Given the description of an element on the screen output the (x, y) to click on. 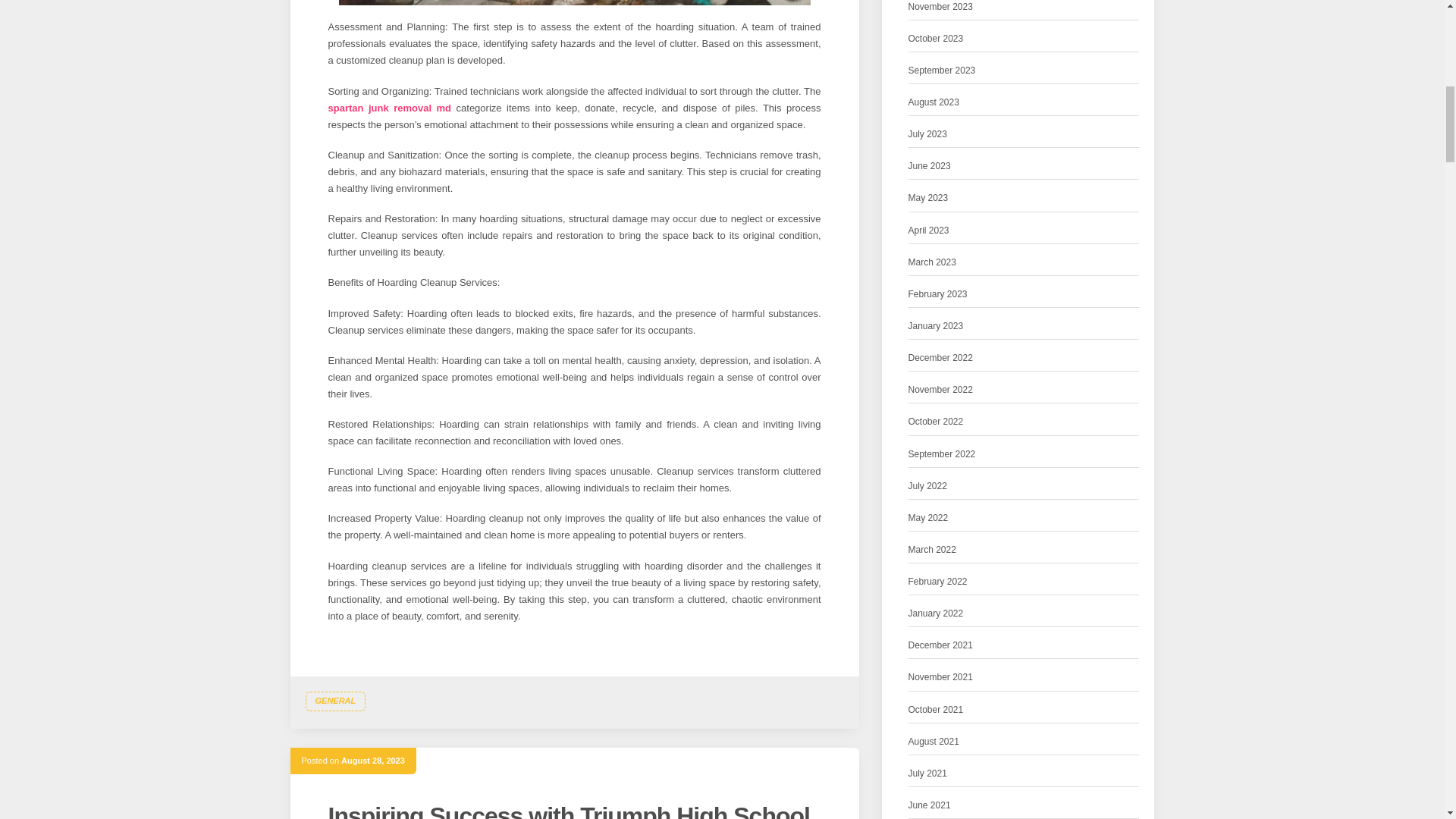
GENERAL (334, 701)
spartan junk removal md (389, 107)
Inspiring Success with Triumph High School East Campus (568, 810)
August 28, 2023 (372, 759)
